Given the description of an element on the screen output the (x, y) to click on. 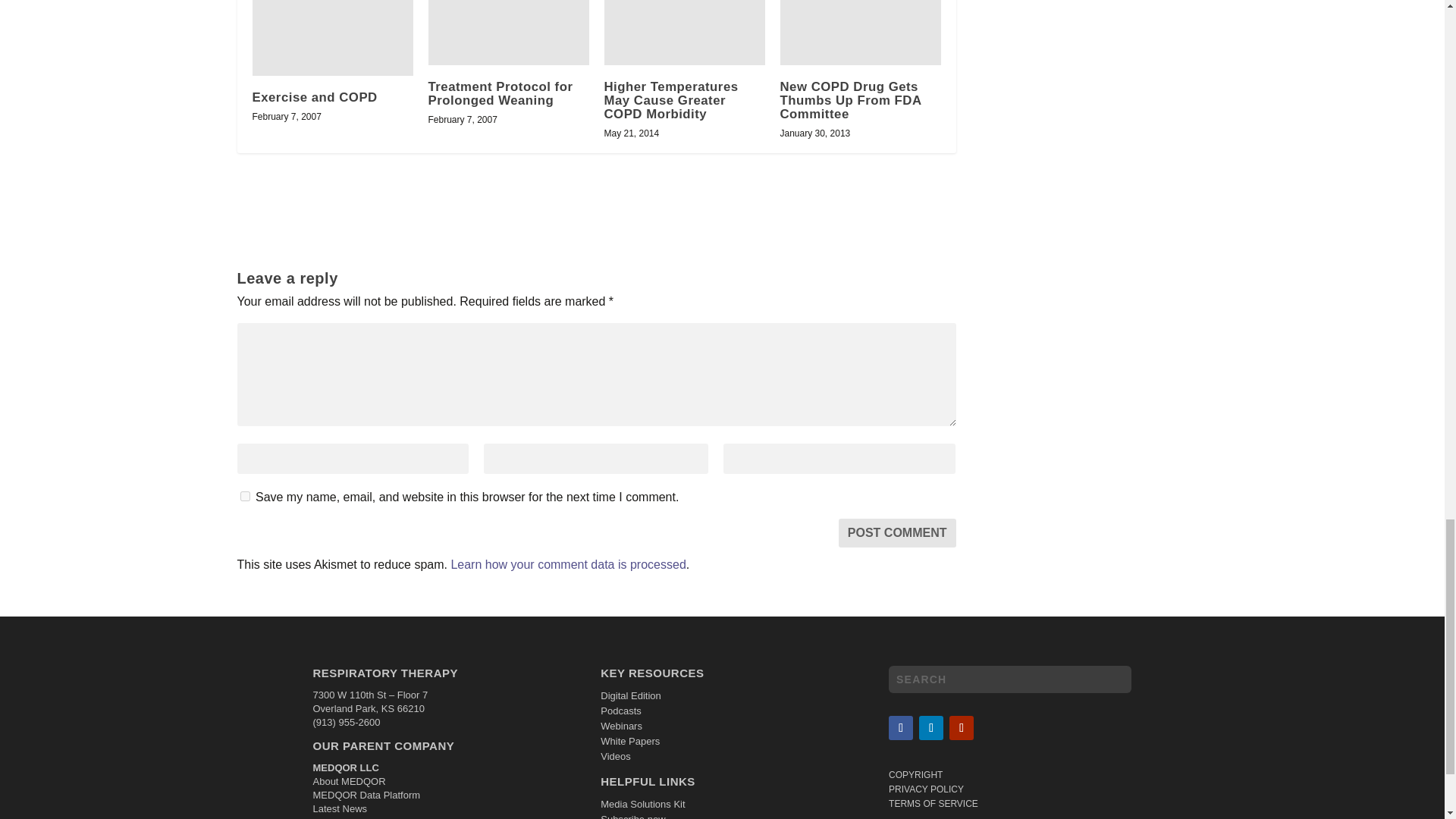
Post Comment (897, 532)
Treatment Protocol for Prolonged Weaning (508, 32)
Exercise and COPD (331, 38)
yes (244, 496)
